Given the description of an element on the screen output the (x, y) to click on. 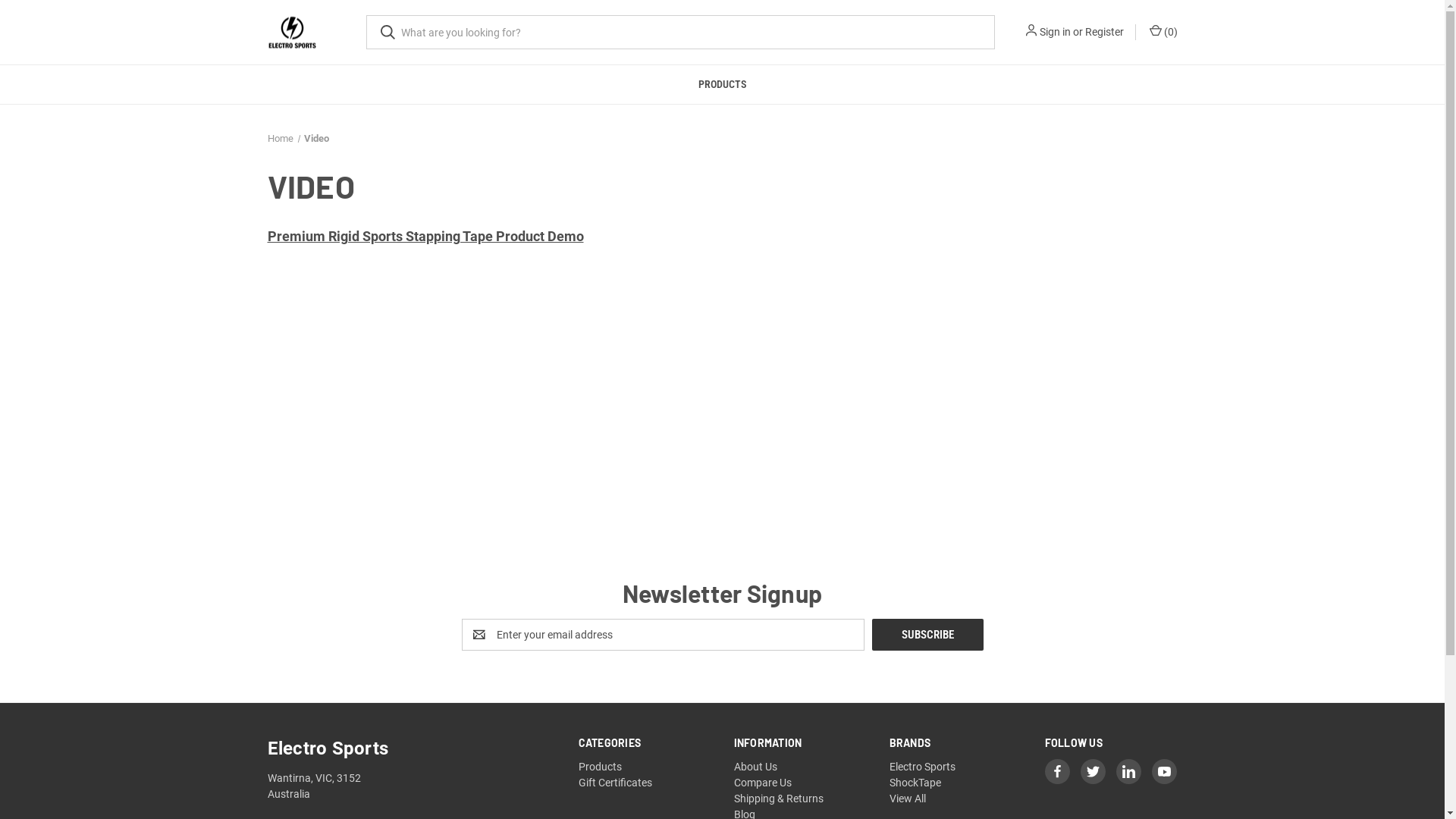
Products Element type: text (599, 766)
Home Element type: text (279, 138)
Register Element type: text (1103, 32)
Electro Sports Element type: hover (291, 32)
Shipping & Returns Element type: text (778, 798)
About Us Element type: text (755, 766)
Compare Us Element type: text (762, 782)
Sign in Element type: text (1054, 32)
Video Element type: text (316, 138)
Electro Sports Element type: text (922, 766)
Gift Certificates Element type: text (615, 782)
Subscribe Element type: text (927, 634)
ShockTape Element type: text (915, 782)
(0) Element type: text (1161, 32)
PRODUCTS Element type: text (722, 84)
View All Element type: text (907, 798)
